Given the description of an element on the screen output the (x, y) to click on. 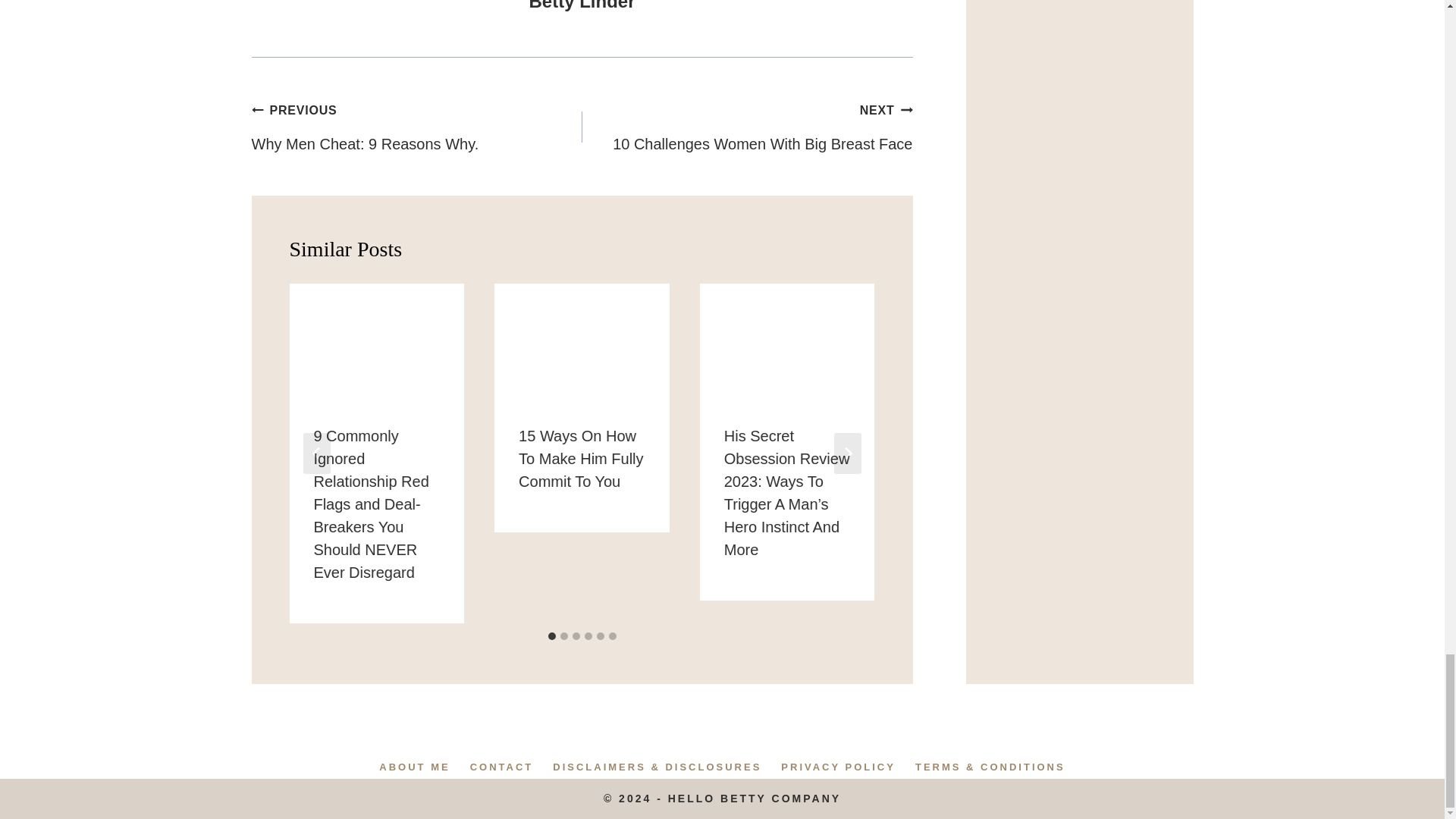
Posts by Betty Linder (581, 5)
